Given the description of an element on the screen output the (x, y) to click on. 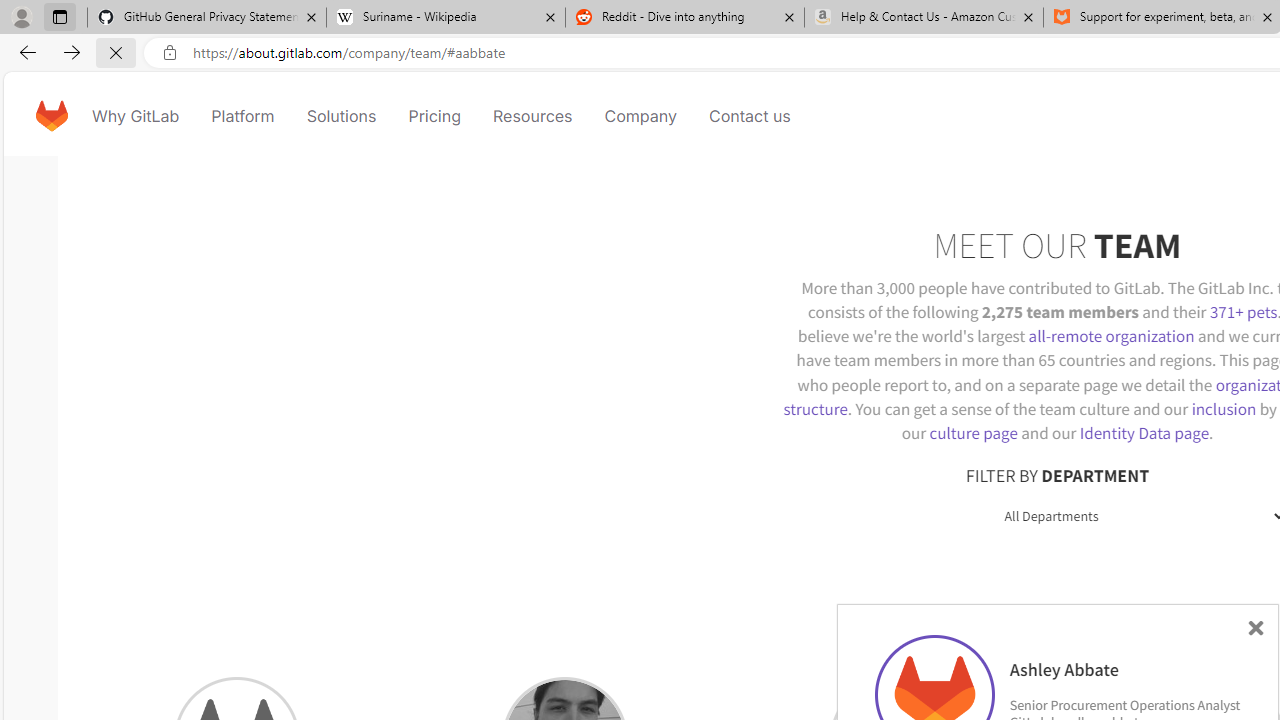
culture page (973, 432)
Senior Procurement Operations Analyst (1124, 704)
Company (640, 115)
Suriname - Wikipedia (445, 17)
Platform (242, 115)
Pricing (433, 115)
Identity Data page (1144, 432)
Pricing (433, 115)
Platform (242, 115)
Resources (532, 115)
GitLab home page (51, 115)
